Given the description of an element on the screen output the (x, y) to click on. 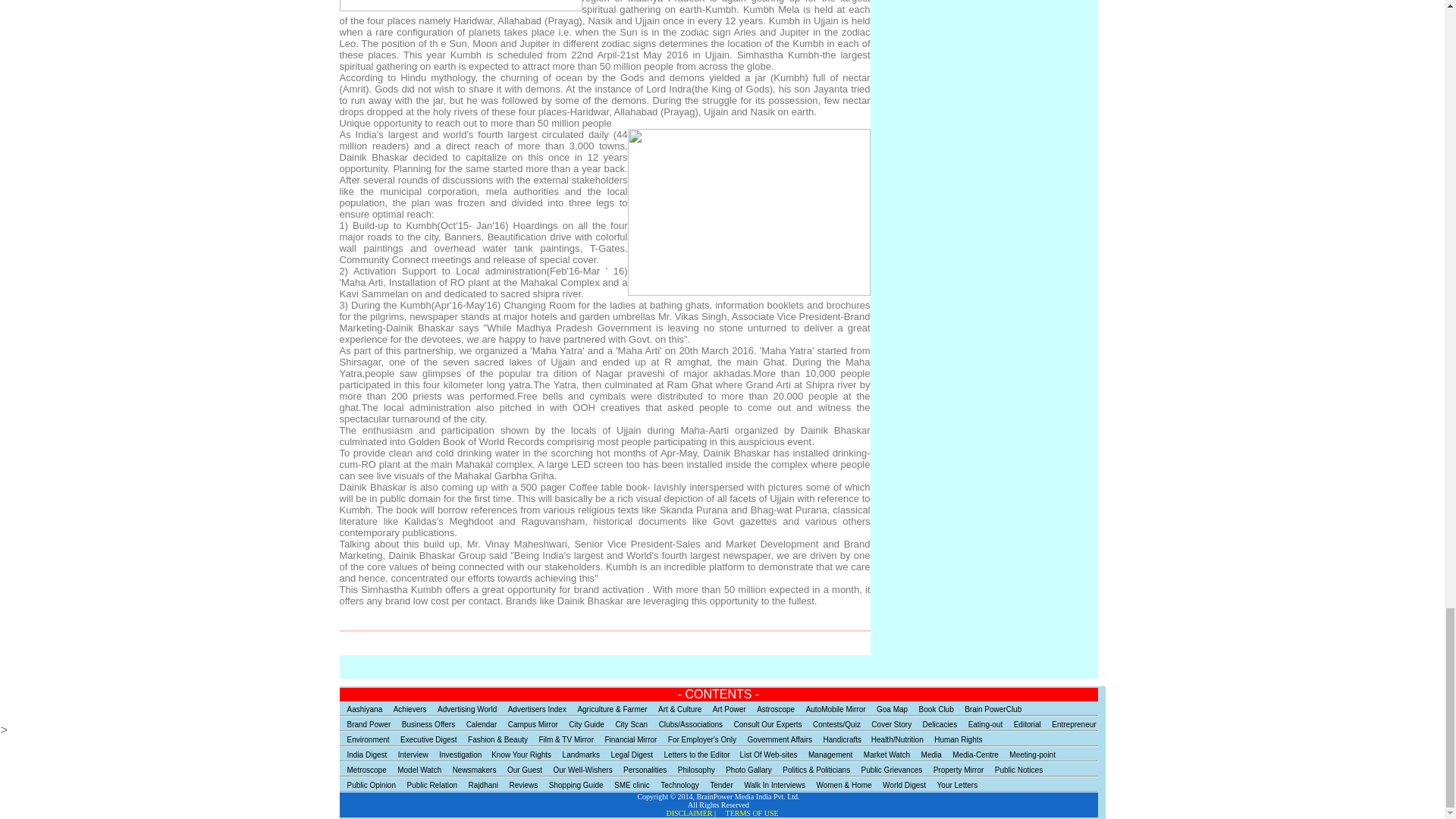
Aashiyana (360, 707)
